Given the description of an element on the screen output the (x, y) to click on. 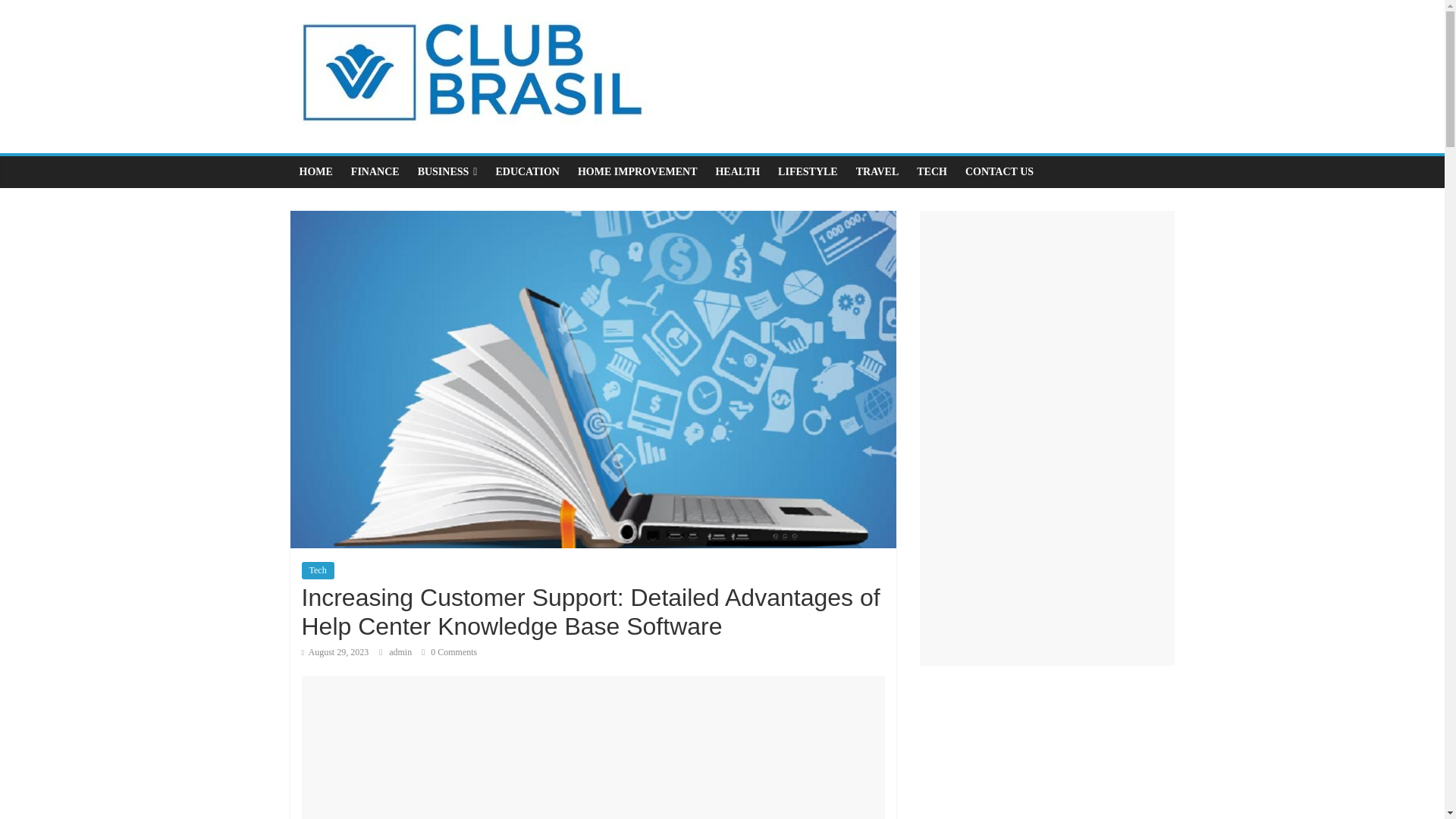
9:44 am (335, 652)
August 29, 2023 (335, 652)
HOME IMPROVEMENT (637, 172)
HOME (314, 172)
Tech (317, 569)
FINANCE (375, 172)
admin (400, 652)
HEALTH (737, 172)
admin (400, 652)
Advertisement (1045, 751)
BUSINESS (447, 172)
TECH (931, 172)
0 Comments (449, 652)
LIFESTYLE (807, 172)
TRAVEL (877, 172)
